Given the description of an element on the screen output the (x, y) to click on. 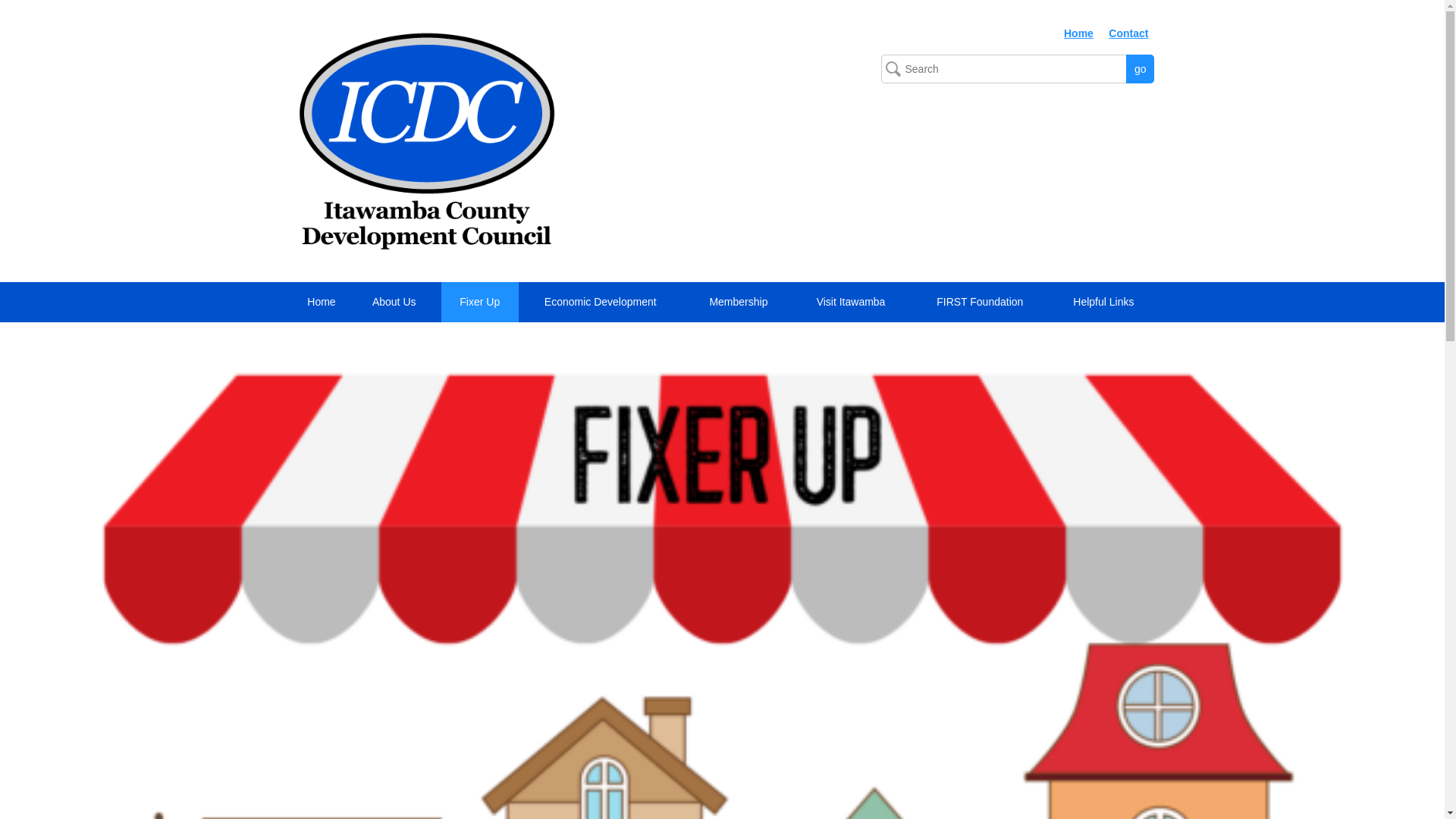
Economic Development (603, 301)
Economic Development (603, 301)
go (1139, 68)
Search (1017, 68)
Membership (741, 301)
Visit Itawamba (853, 301)
About Us (396, 301)
Home (320, 301)
Contact (1128, 33)
About Us (396, 301)
